Given the description of an element on the screen output the (x, y) to click on. 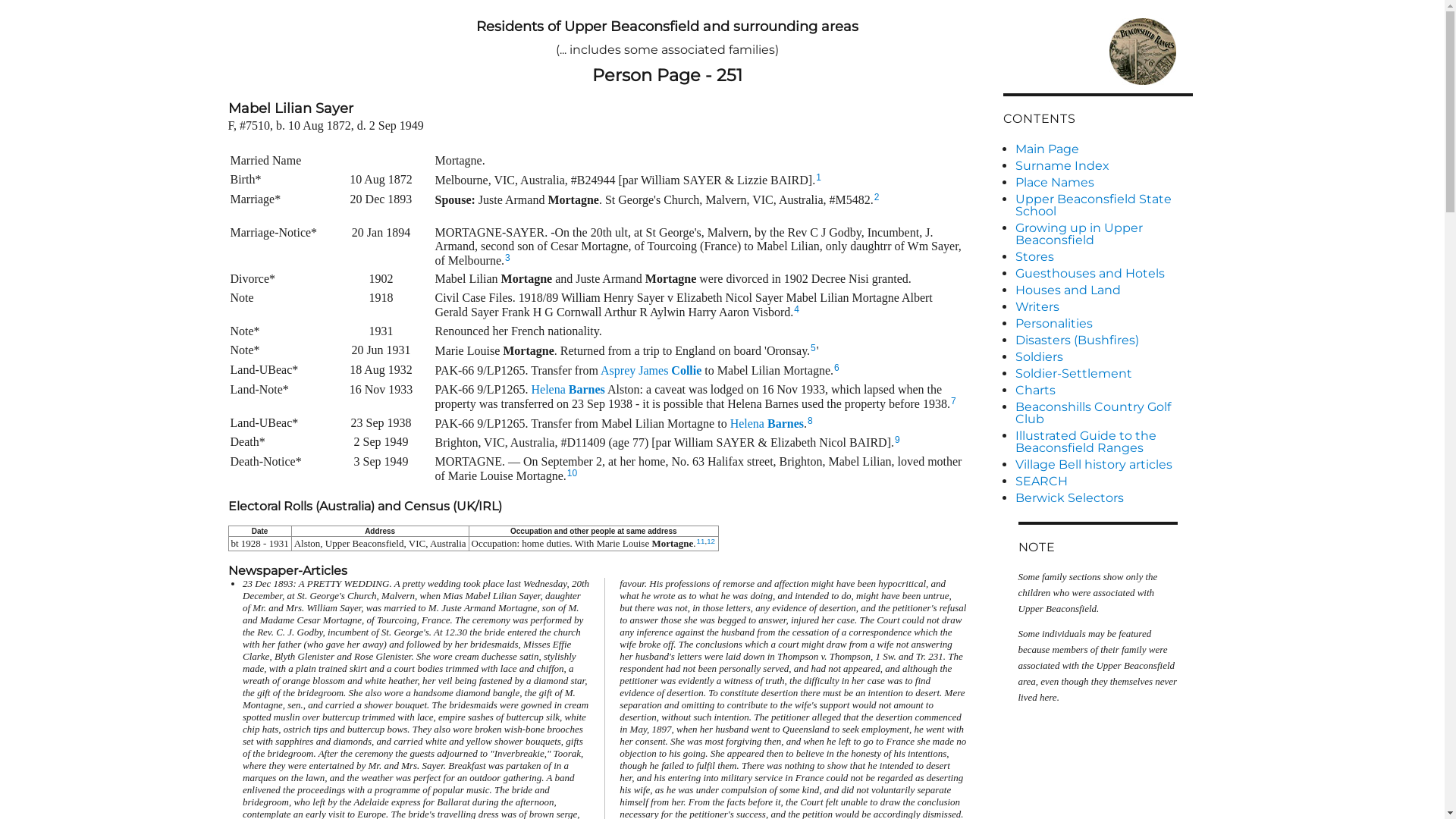
Writers Element type: text (1103, 306)
Charts Element type: text (1103, 390)
1 Element type: text (818, 177)
Illustrated Guide to the Beaconsfield Ranges Element type: text (1103, 441)
Helena Barnes Element type: text (567, 388)
Helena Barnes Element type: text (766, 422)
Personalities Element type: text (1103, 323)
12 Element type: text (710, 540)
Disasters (Bushfires) Element type: text (1103, 340)
Berwick Selectors Element type: text (1103, 497)
Village Bell history articles Element type: text (1103, 464)
9 Element type: text (897, 439)
Main Page Element type: text (1103, 149)
Soldier-Settlement Element type: text (1103, 373)
SEARCH Element type: text (1103, 481)
Growing up in Upper Beaconsfield Element type: text (1103, 233)
Asprey James Collie Element type: text (650, 370)
Upper Beaconsfield State School Element type: text (1103, 205)
10 Element type: text (572, 472)
8 Element type: text (809, 420)
6 Element type: text (836, 367)
Beaconshills Country Golf Club Element type: text (1103, 412)
4 Element type: text (796, 309)
5 Element type: text (812, 347)
Stores Element type: text (1103, 256)
2 Element type: text (876, 196)
11 Element type: text (700, 540)
3 Element type: text (507, 257)
Guesthouses and Hotels Element type: text (1103, 273)
Soldiers Element type: text (1103, 356)
7 Element type: text (953, 400)
Surname Index Element type: text (1103, 165)
Place Names Element type: text (1103, 182)
Houses and Land Element type: text (1103, 290)
